Given the description of an element on the screen output the (x, y) to click on. 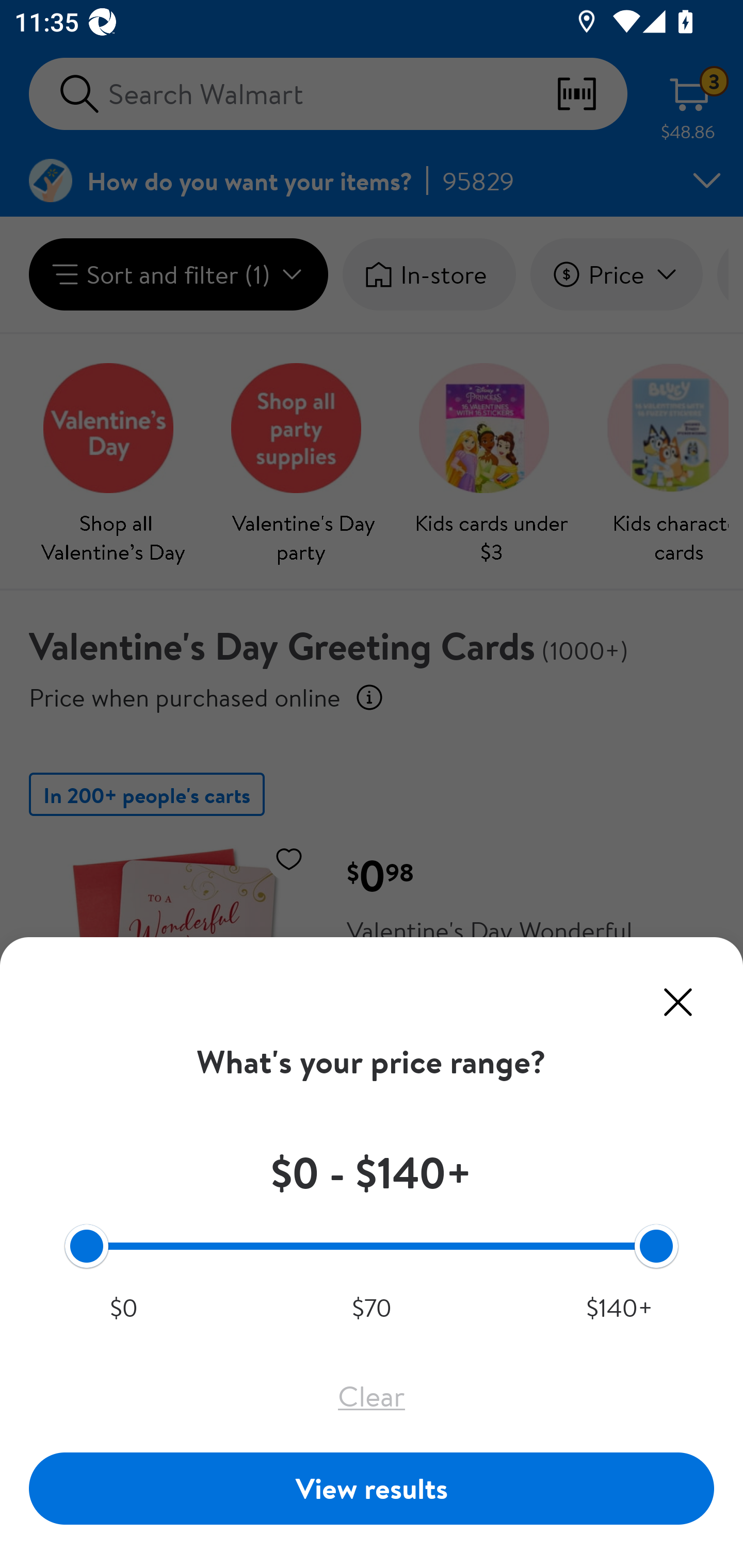
Close (677, 1001)
Range start,0 to 142 Range end,0 to 142 (371, 1245)
Clear (371, 1395)
View results (371, 1487)
